Given the description of an element on the screen output the (x, y) to click on. 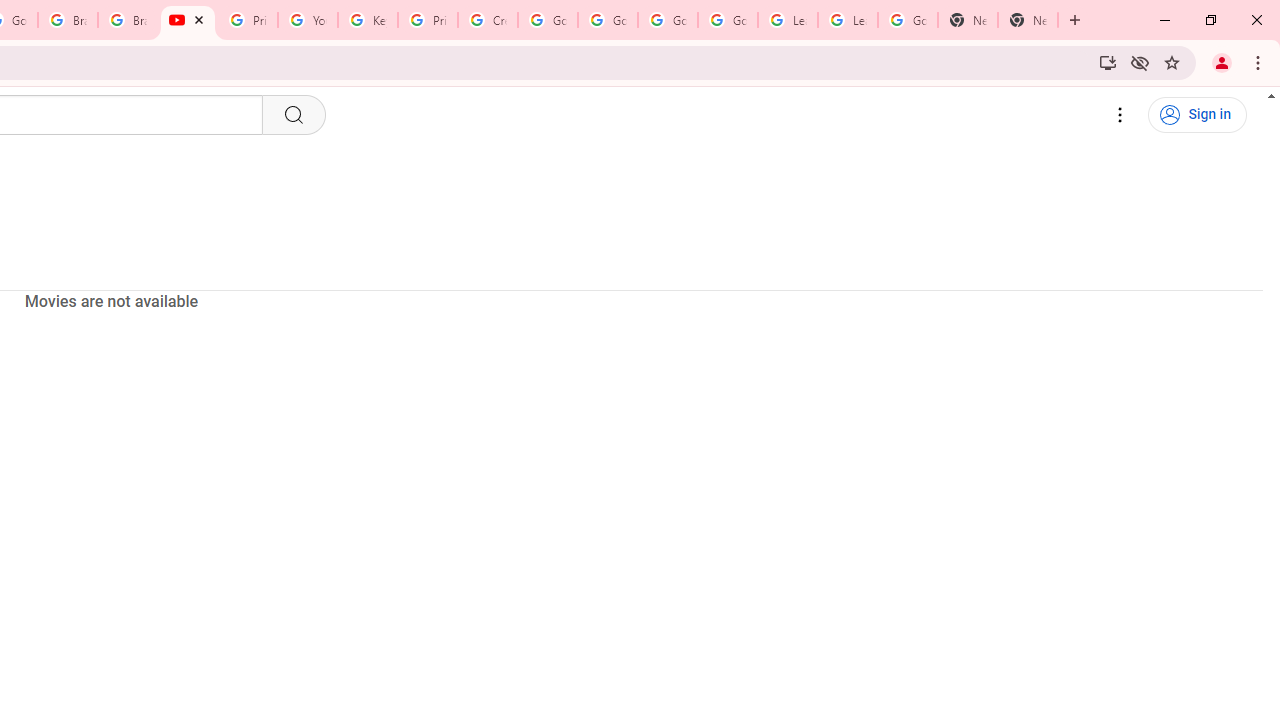
YouTube (187, 20)
New Tab (1028, 20)
Create your Google Account (488, 20)
Google Account Help (727, 20)
Google Account (908, 20)
Brand Resource Center (68, 20)
